Given the description of an element on the screen output the (x, y) to click on. 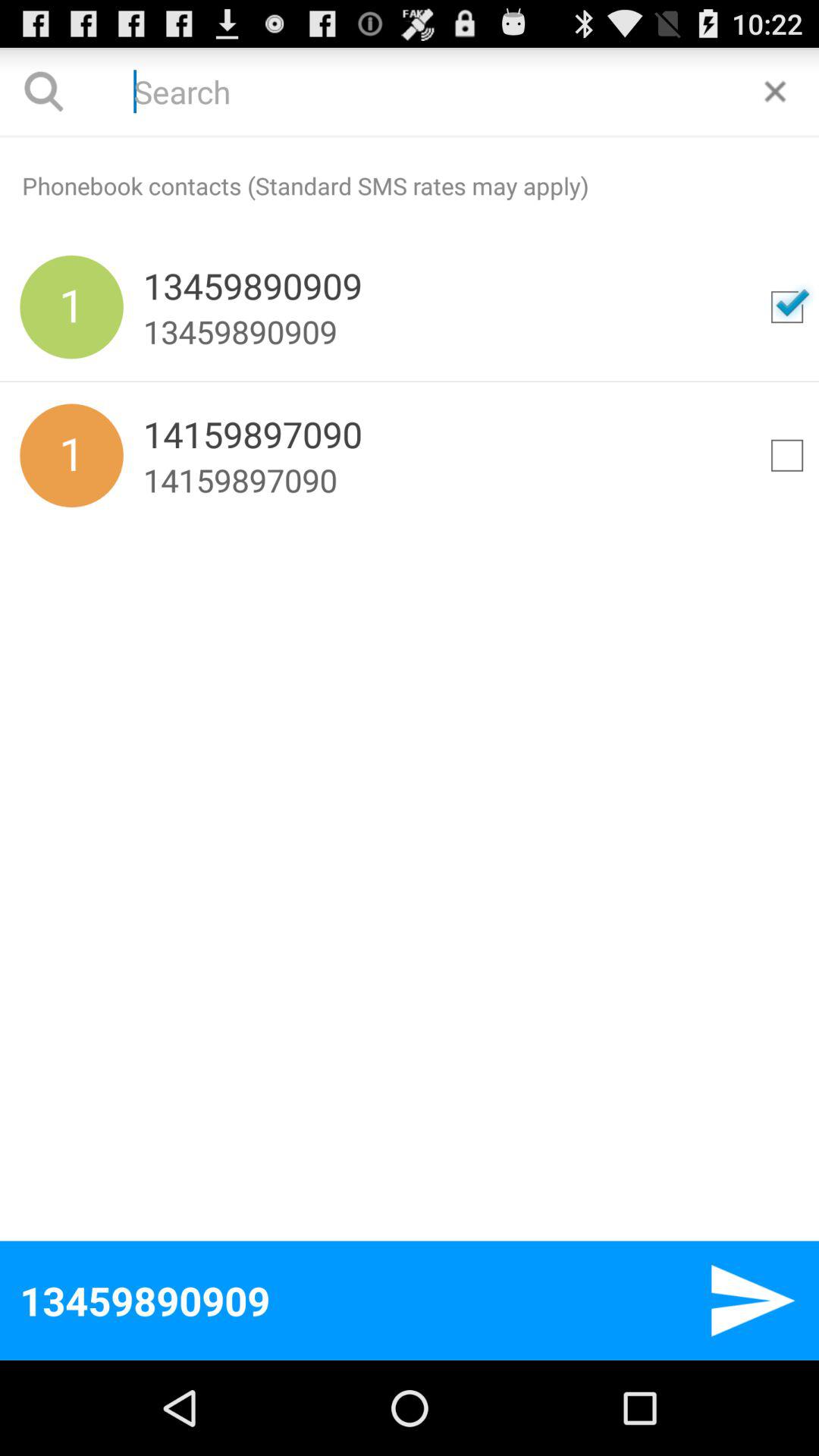
cancel search query (775, 91)
